Given the description of an element on the screen output the (x, y) to click on. 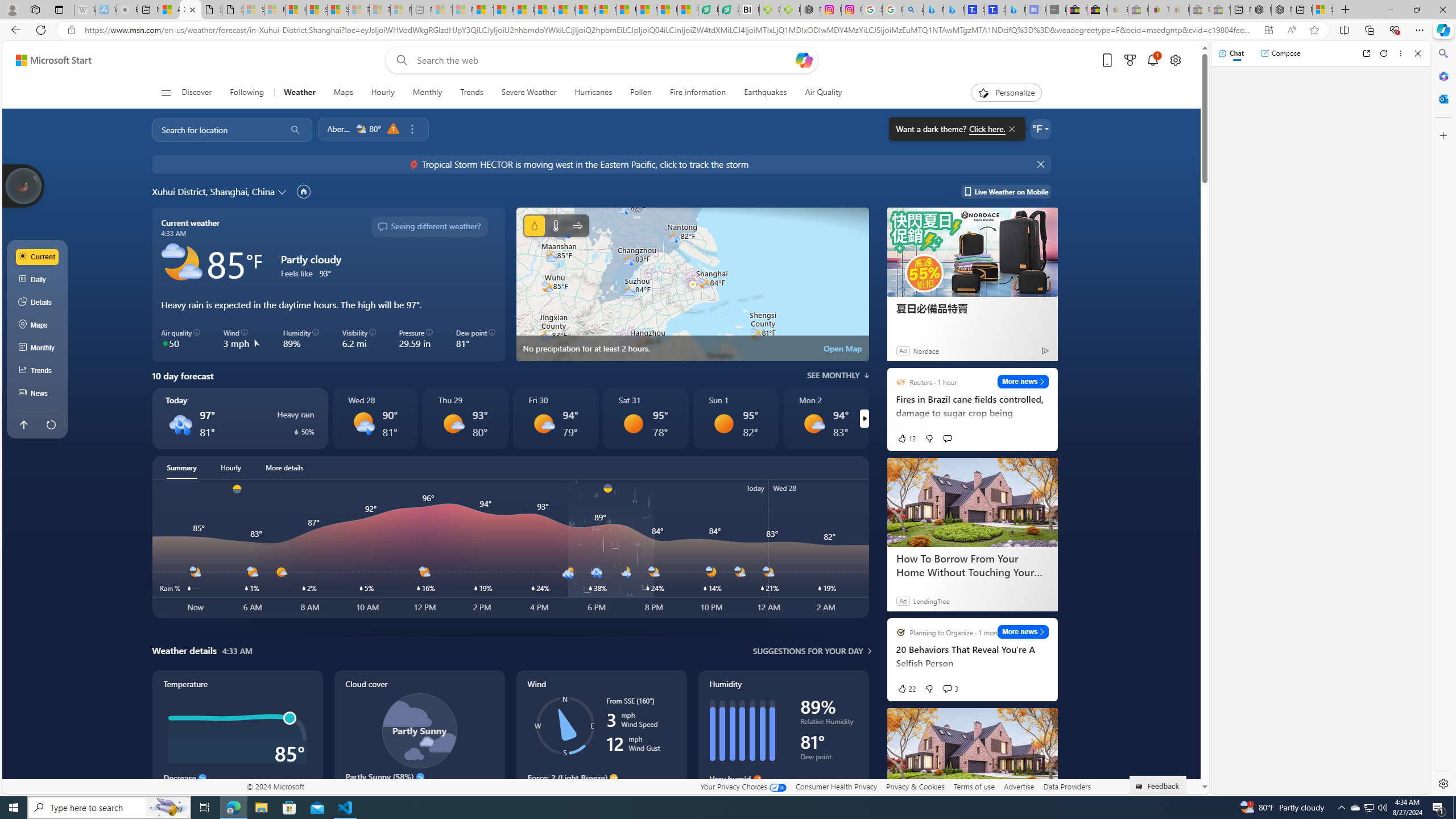
Marine life - MSN - Sleeping (461, 9)
Partly cloudy (181, 263)
Maps (343, 92)
Microsoft Bing Travel - Shangri-La Hotel Bangkok (1015, 9)
Join us in planting real trees to help our planet! (23, 185)
Notifications (1152, 60)
App available. Install Microsoft Start Weather (1268, 29)
Terms of use (973, 786)
Fire information (698, 92)
How To Borrow From Your Home Without Touching Your Mortgage (971, 565)
